Given the description of an element on the screen output the (x, y) to click on. 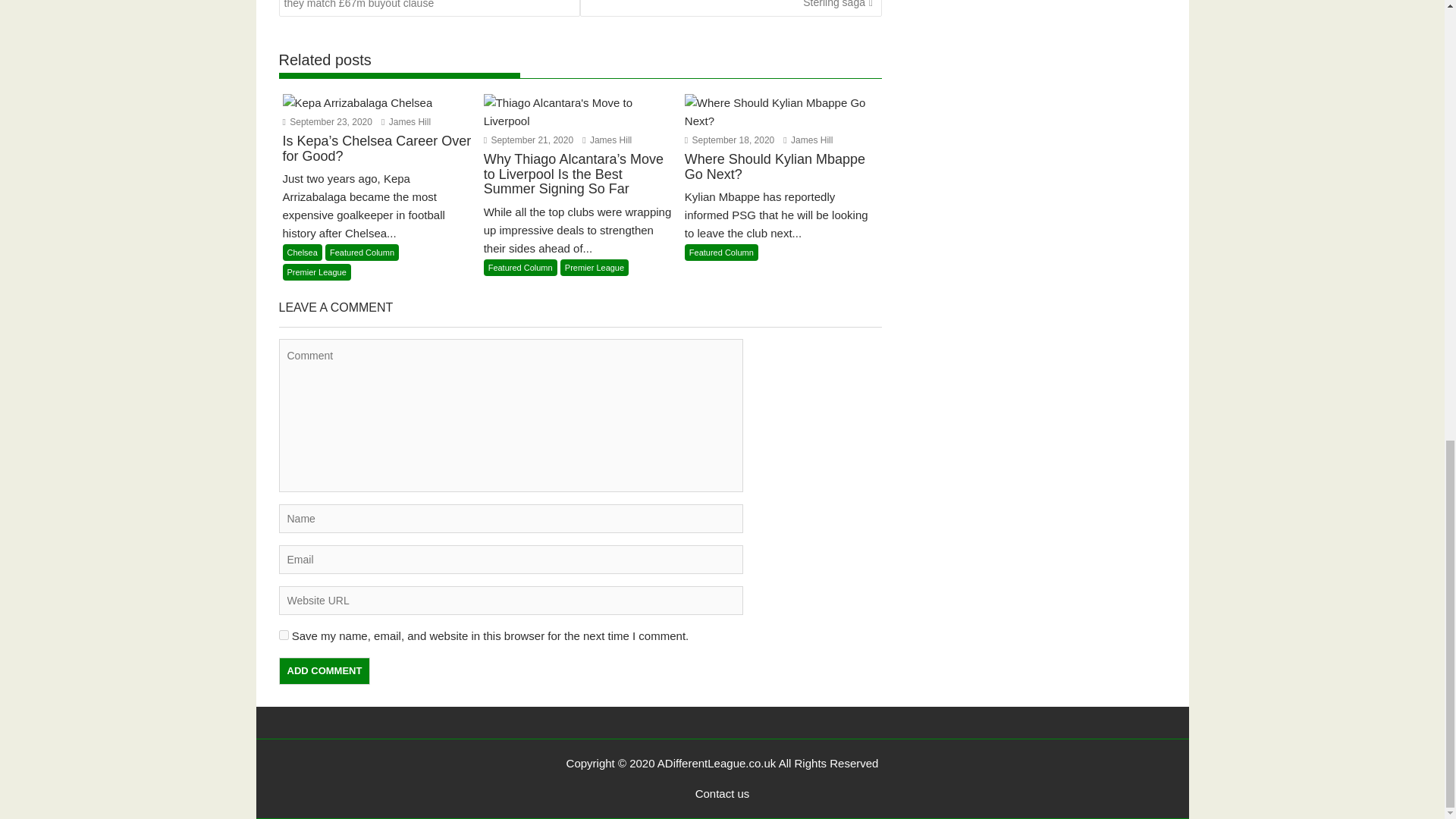
James Hill (405, 122)
James Hill (606, 140)
yes (283, 634)
Premier League (316, 271)
September 21, 2020 (528, 140)
Chelsea (301, 252)
Featured Column (520, 267)
September 23, 2020 (326, 122)
Add Comment (325, 669)
